Given the description of an element on the screen output the (x, y) to click on. 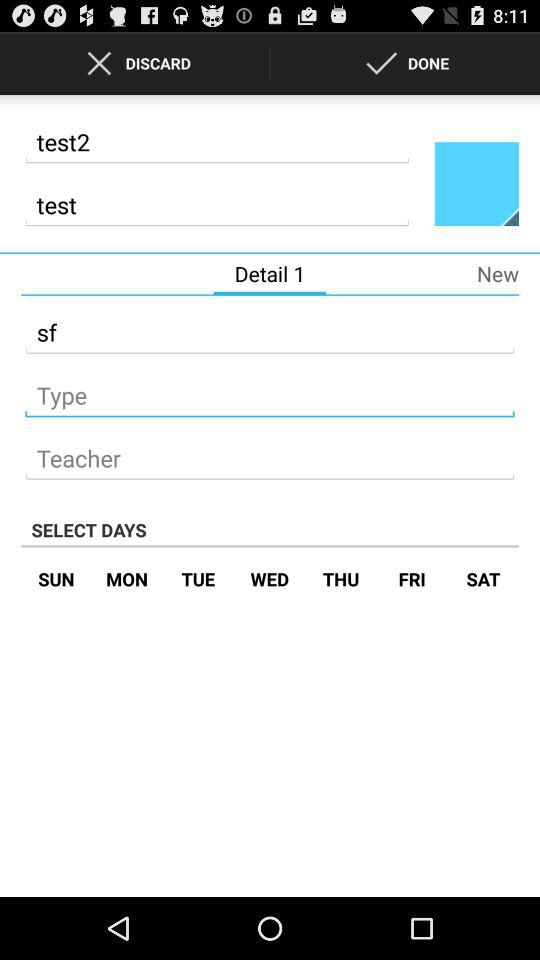
enter teacher (270, 452)
